Given the description of an element on the screen output the (x, y) to click on. 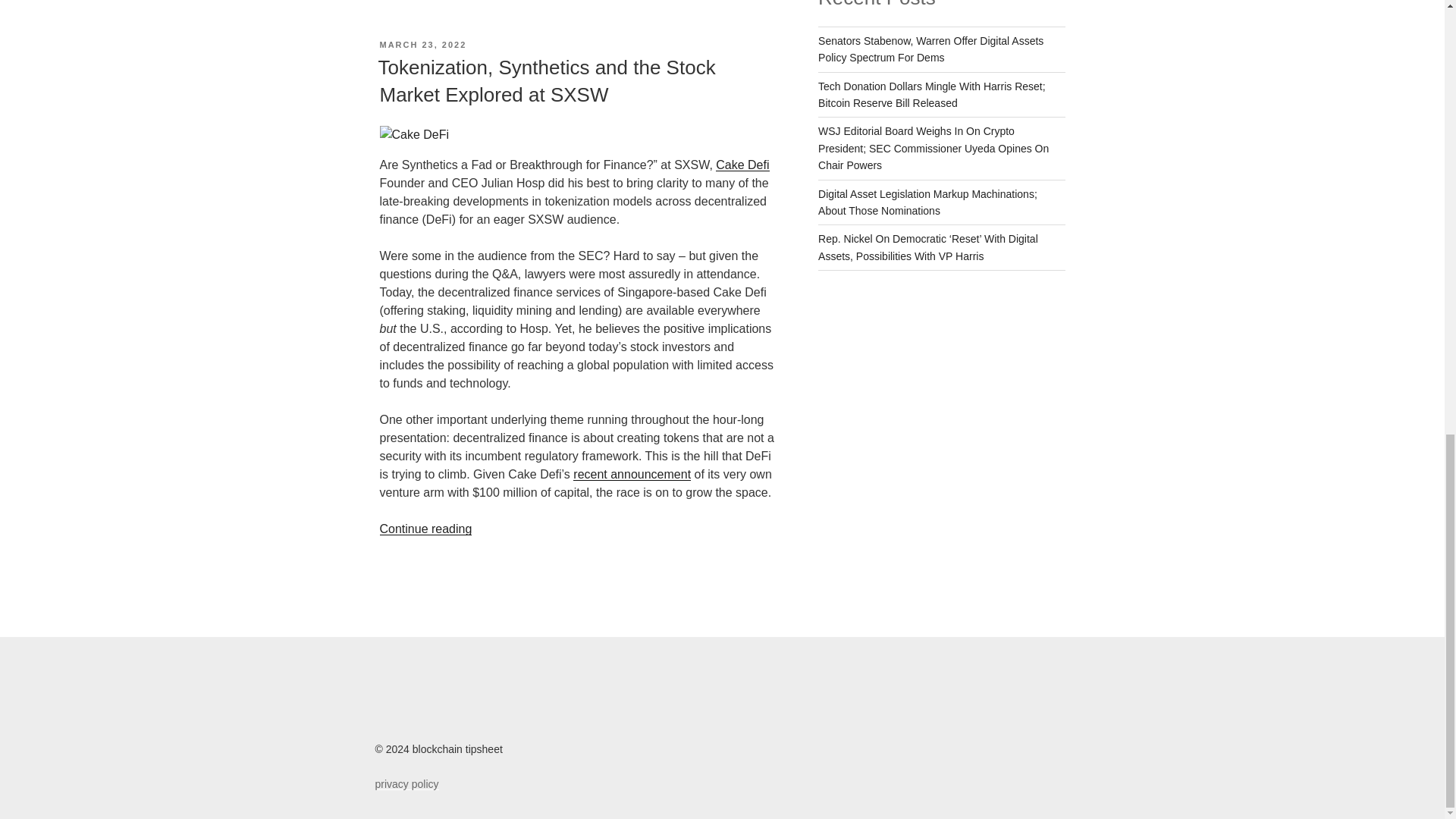
Cake Defi (742, 164)
recent announcement (631, 473)
MARCH 23, 2022 (421, 44)
privacy policy (406, 784)
